Given the description of an element on the screen output the (x, y) to click on. 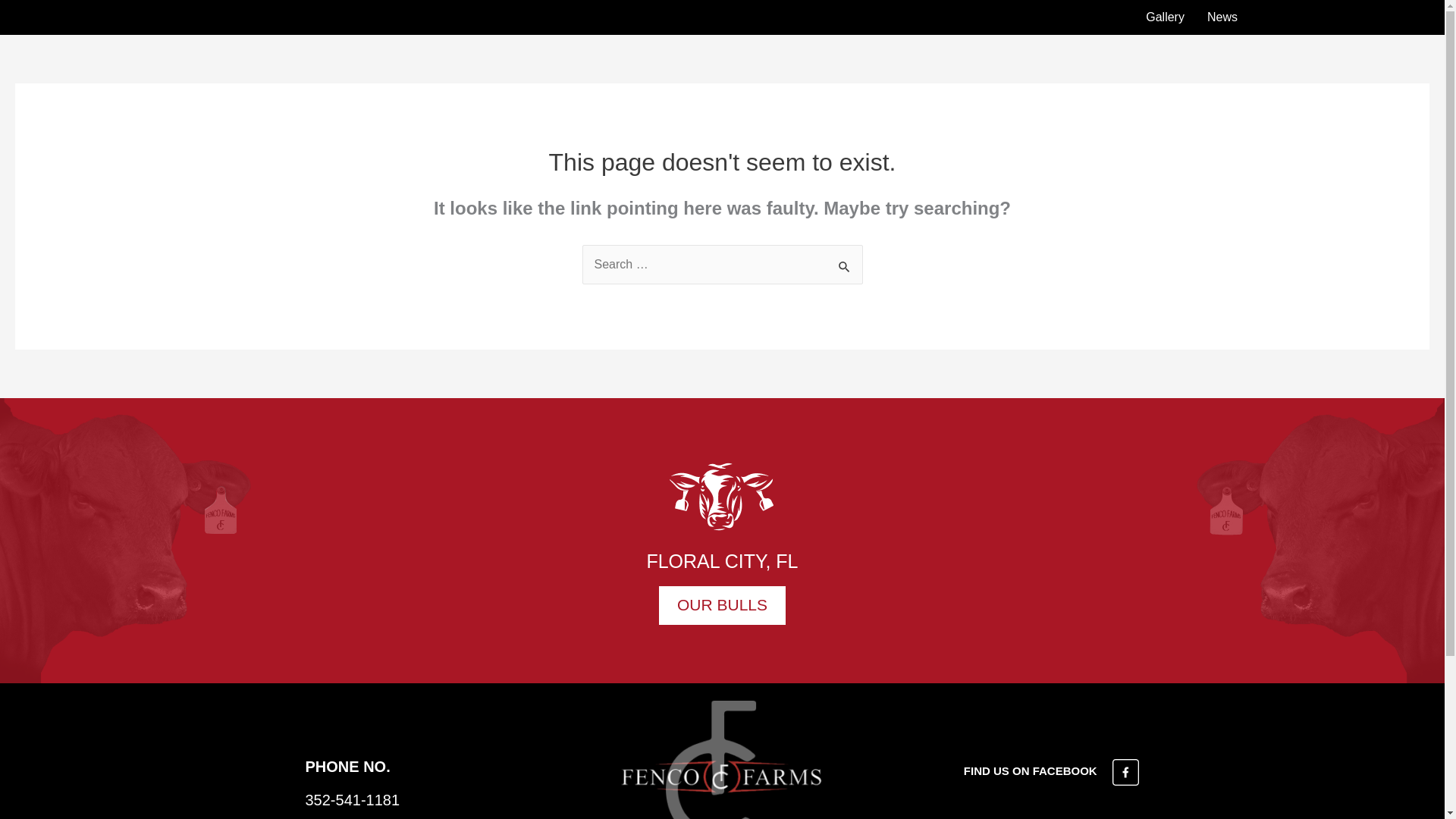
352-541-1181 (351, 799)
FIND US ON FACEBOOK      (1051, 770)
OUR BULLS (722, 605)
News (1222, 17)
Gallery (1164, 17)
